Given the description of an element on the screen output the (x, y) to click on. 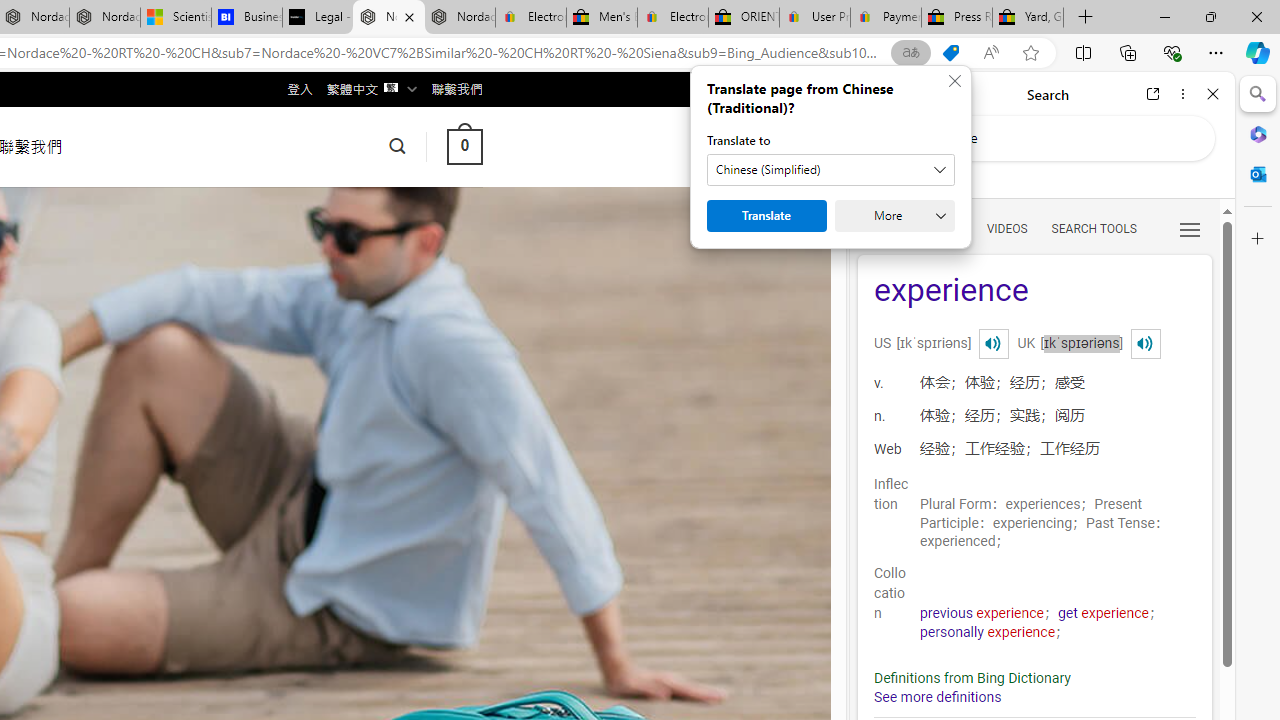
User Privacy Notice | eBay (814, 17)
Customize (1258, 239)
Outlook (1258, 174)
More options (1182, 93)
WEB   (882, 228)
 0  (464, 146)
Search Filter, VIDEOS (1006, 228)
